Given the description of an element on the screen output the (x, y) to click on. 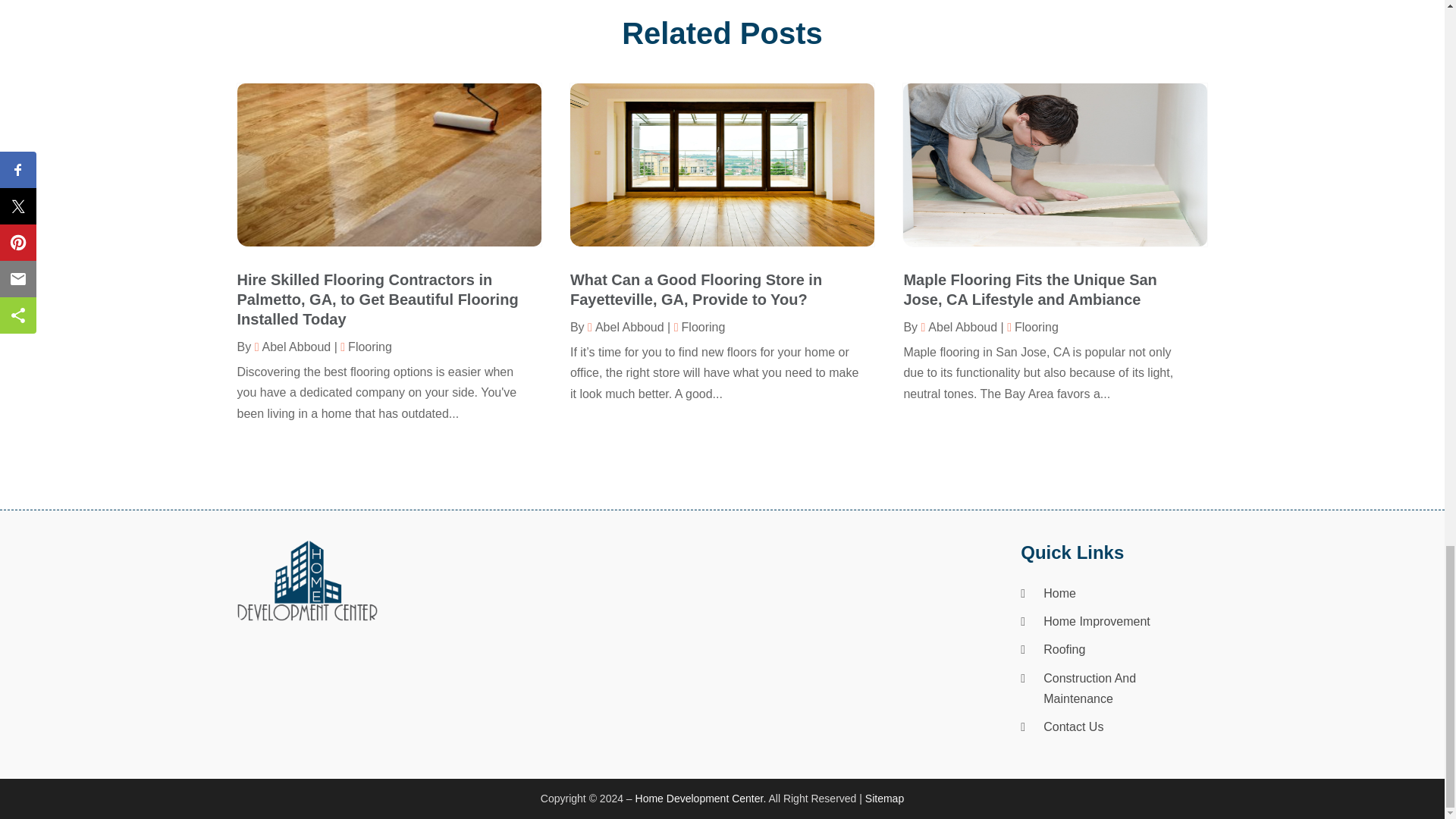
Posts by Abel Abboud (625, 327)
Home Development Center - Footer Logo (306, 580)
Posts by Abel Abboud (958, 327)
Posts by Abel Abboud (292, 346)
